Given the description of an element on the screen output the (x, y) to click on. 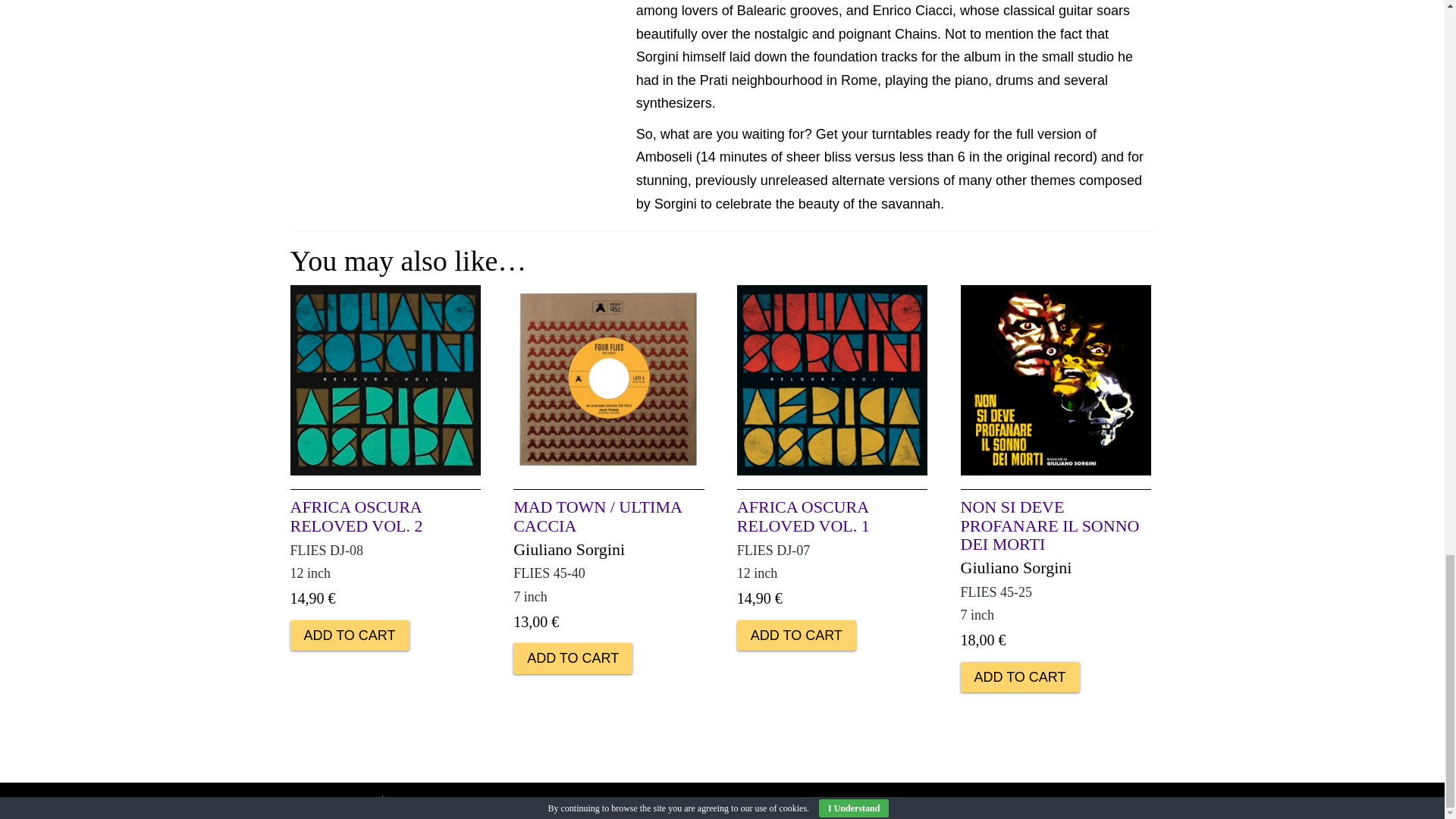
ADD TO CART (796, 634)
ADD TO CART (1020, 676)
ADD TO CART (349, 634)
ADD TO CART (572, 657)
